Given the description of an element on the screen output the (x, y) to click on. 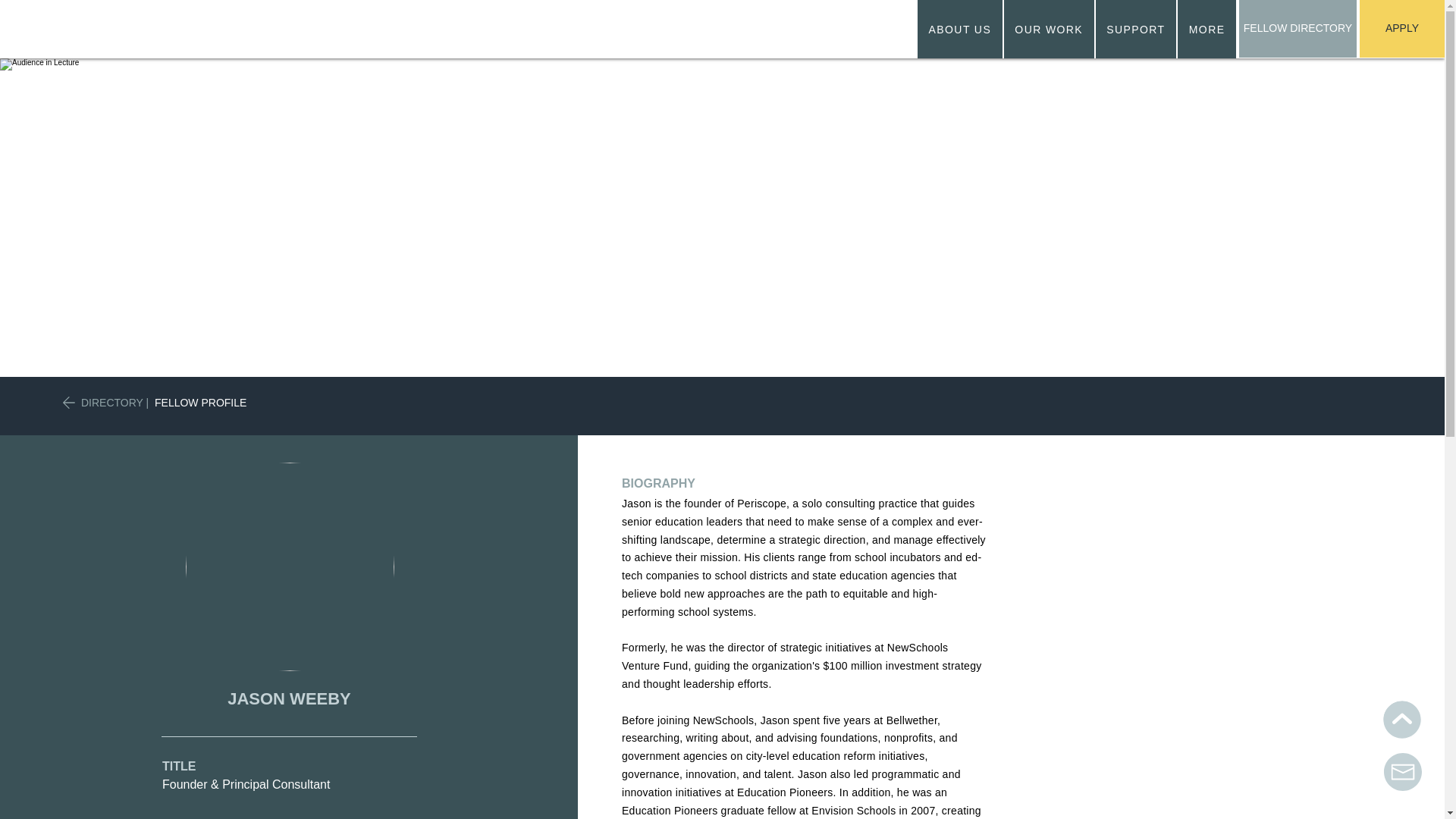
ABOUT US (960, 29)
DIRECTORY (111, 402)
FELLOW DIRECTORY (1297, 28)
